Given the description of an element on the screen output the (x, y) to click on. 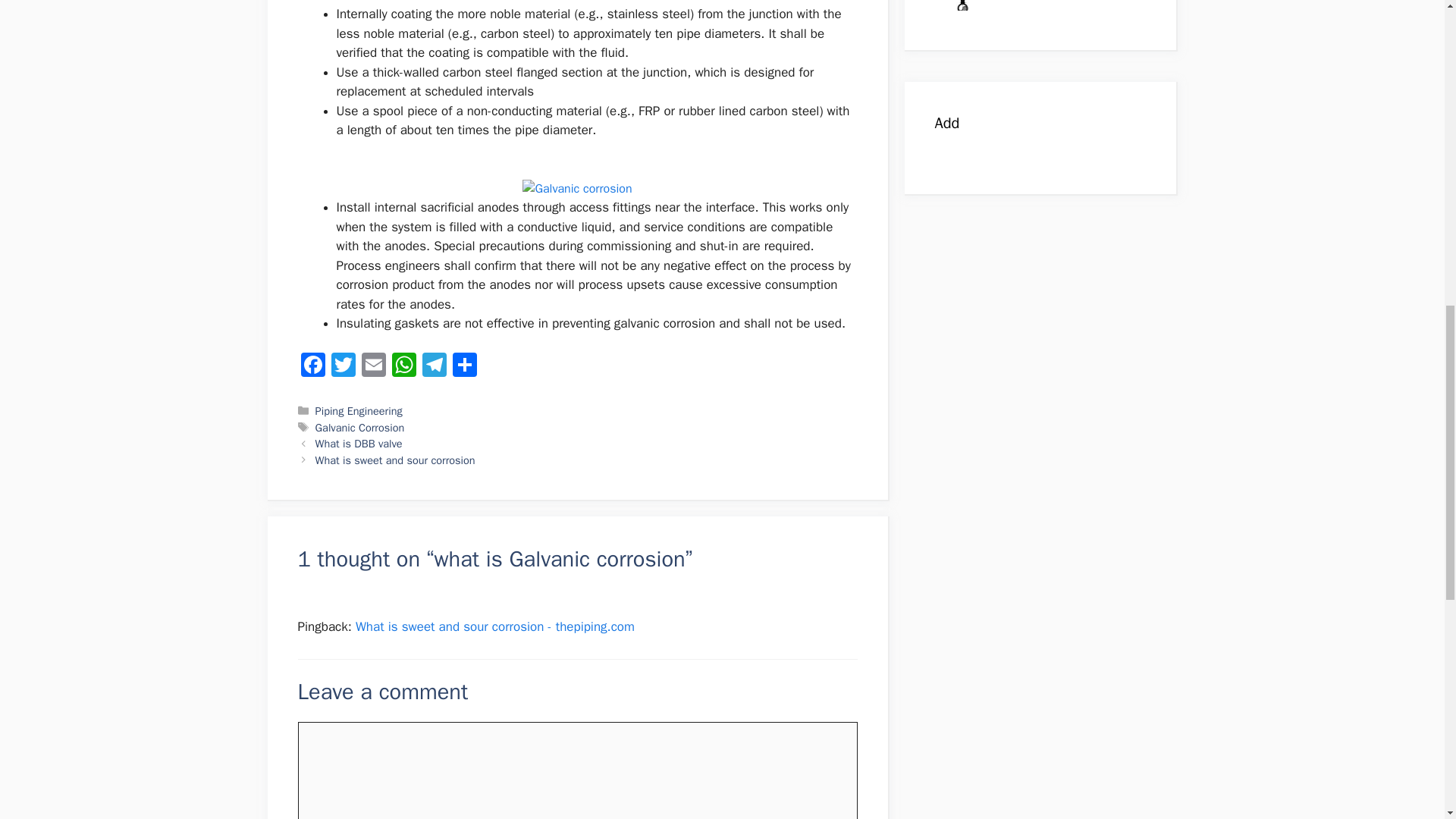
What is DBB valve (359, 443)
Facebook (312, 366)
WhatsApp (403, 366)
Twitter (342, 366)
What is sweet and sour corrosion (395, 459)
Piping Engineering (359, 410)
Galvanic Corrosion (359, 427)
Facebook (312, 366)
Telegram (433, 366)
Email (373, 366)
